Given the description of an element on the screen output the (x, y) to click on. 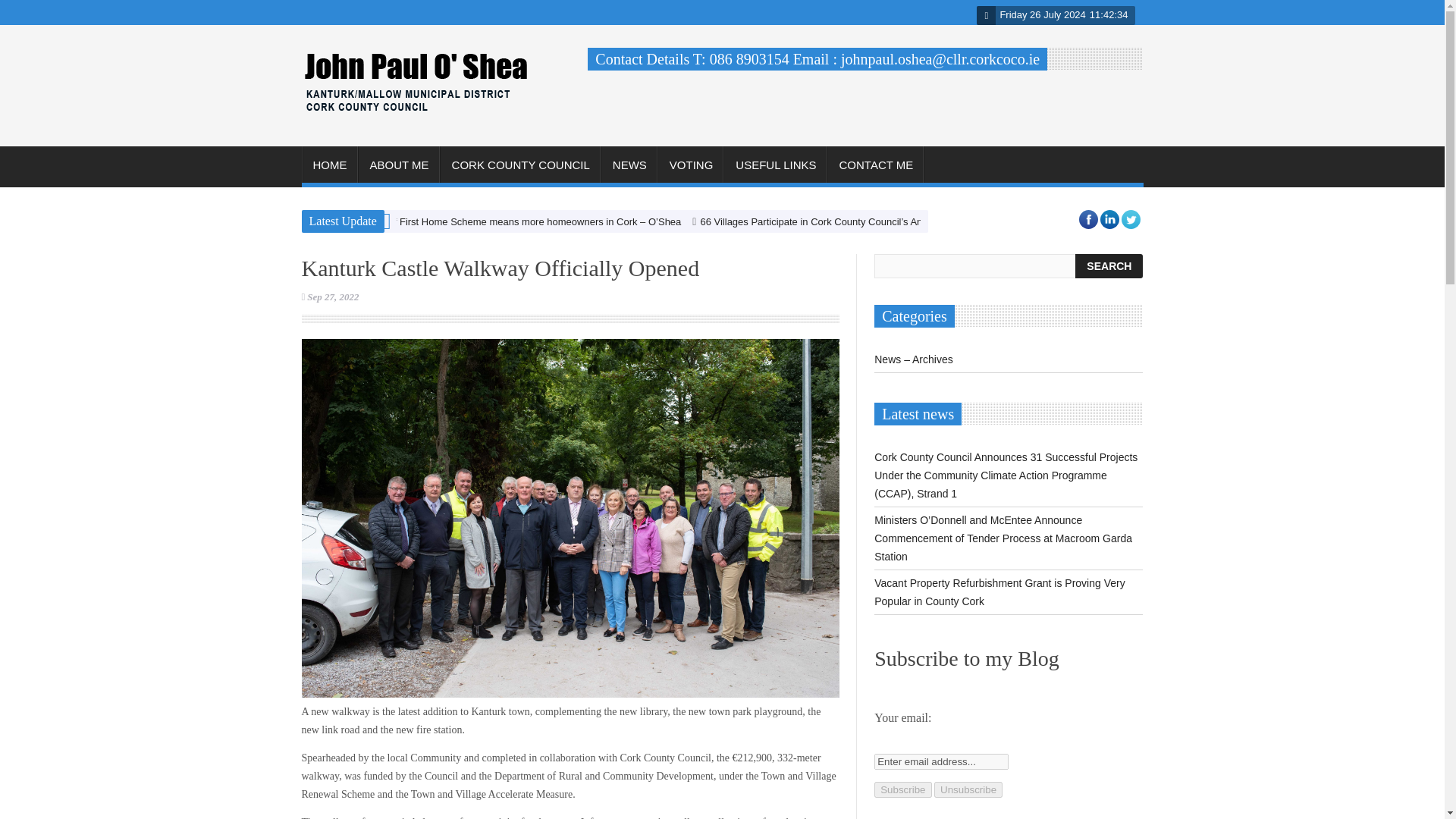
Enter email address... (942, 761)
CONTACT ME (876, 165)
Subscribe (903, 789)
Subscribe (903, 789)
CORK COUNTY COUNCIL (521, 165)
ABOUT ME (398, 165)
Search (1108, 265)
Unsubscribe (968, 789)
VOTING (691, 165)
Unsubscribe (968, 789)
Search (1108, 265)
USEFUL LINKS (775, 165)
NEWS (629, 165)
HOME (329, 165)
